Given the description of an element on the screen output the (x, y) to click on. 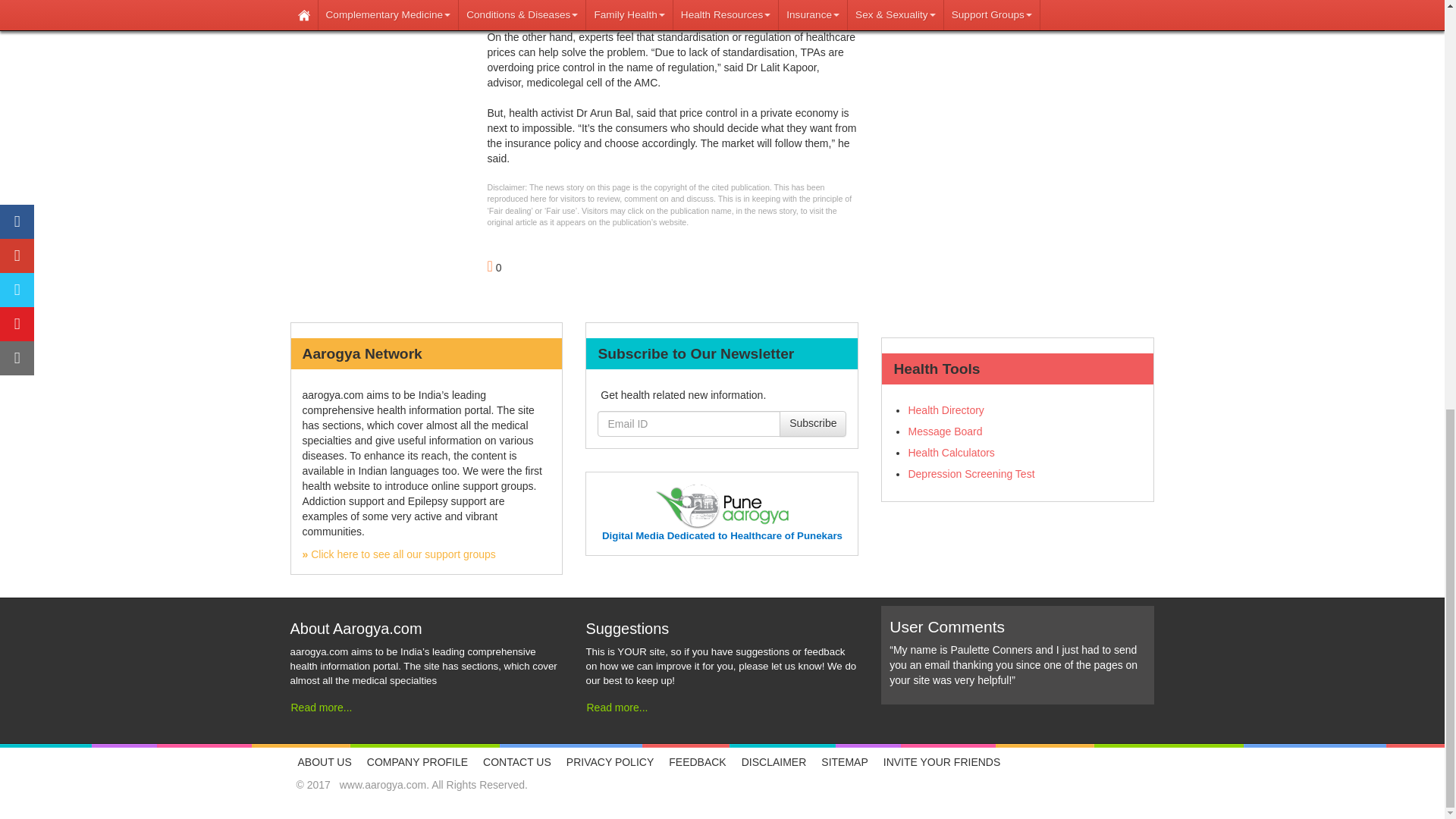
Pune Aarogya (722, 505)
Advertisement (376, 138)
Pune Aarogya (722, 535)
Advertisement (1017, 49)
Aarogya Network (398, 553)
